Given the description of an element on the screen output the (x, y) to click on. 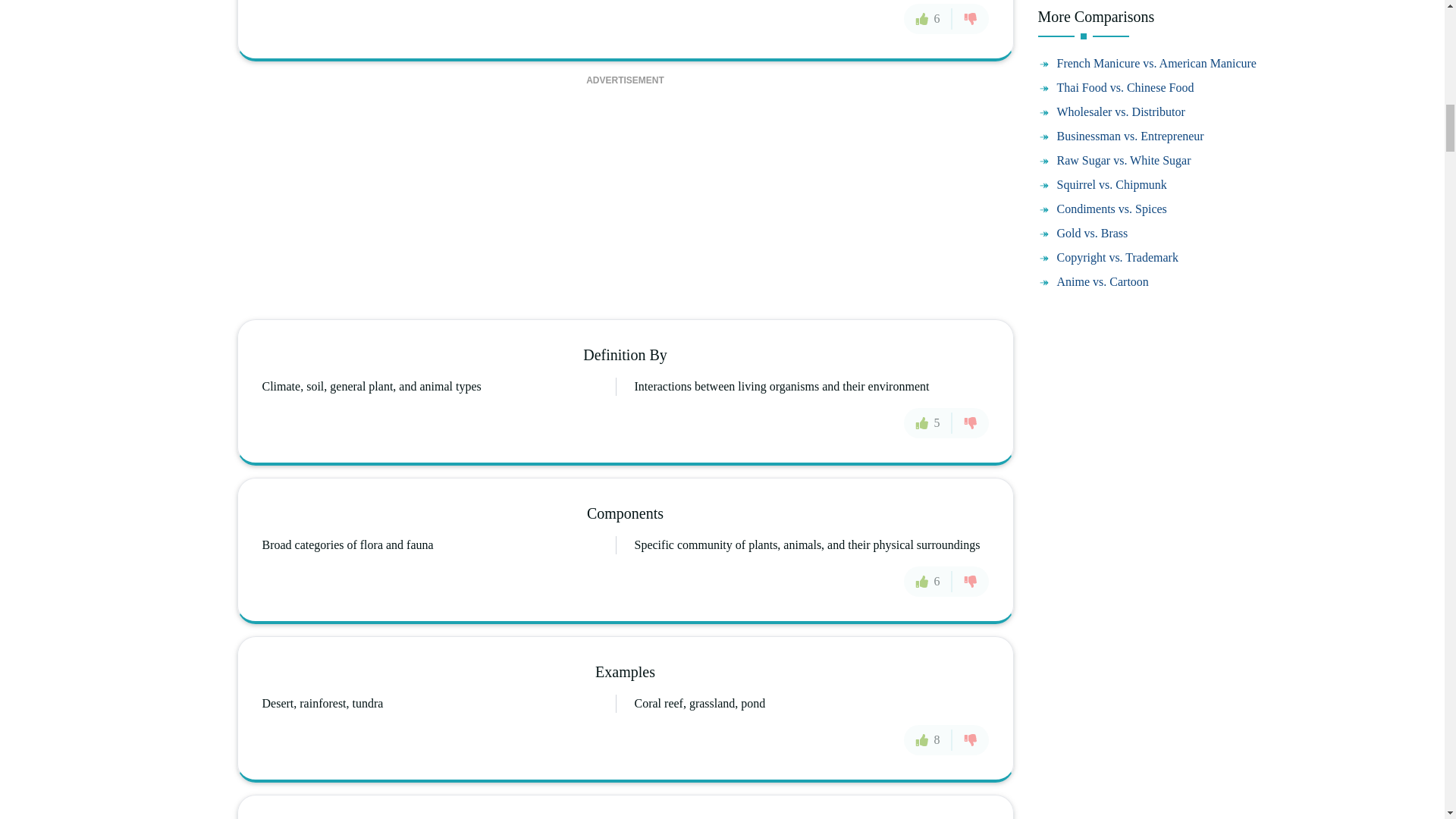
6 (928, 581)
8 (928, 739)
5 (928, 422)
6 (928, 19)
